Given the description of an element on the screen output the (x, y) to click on. 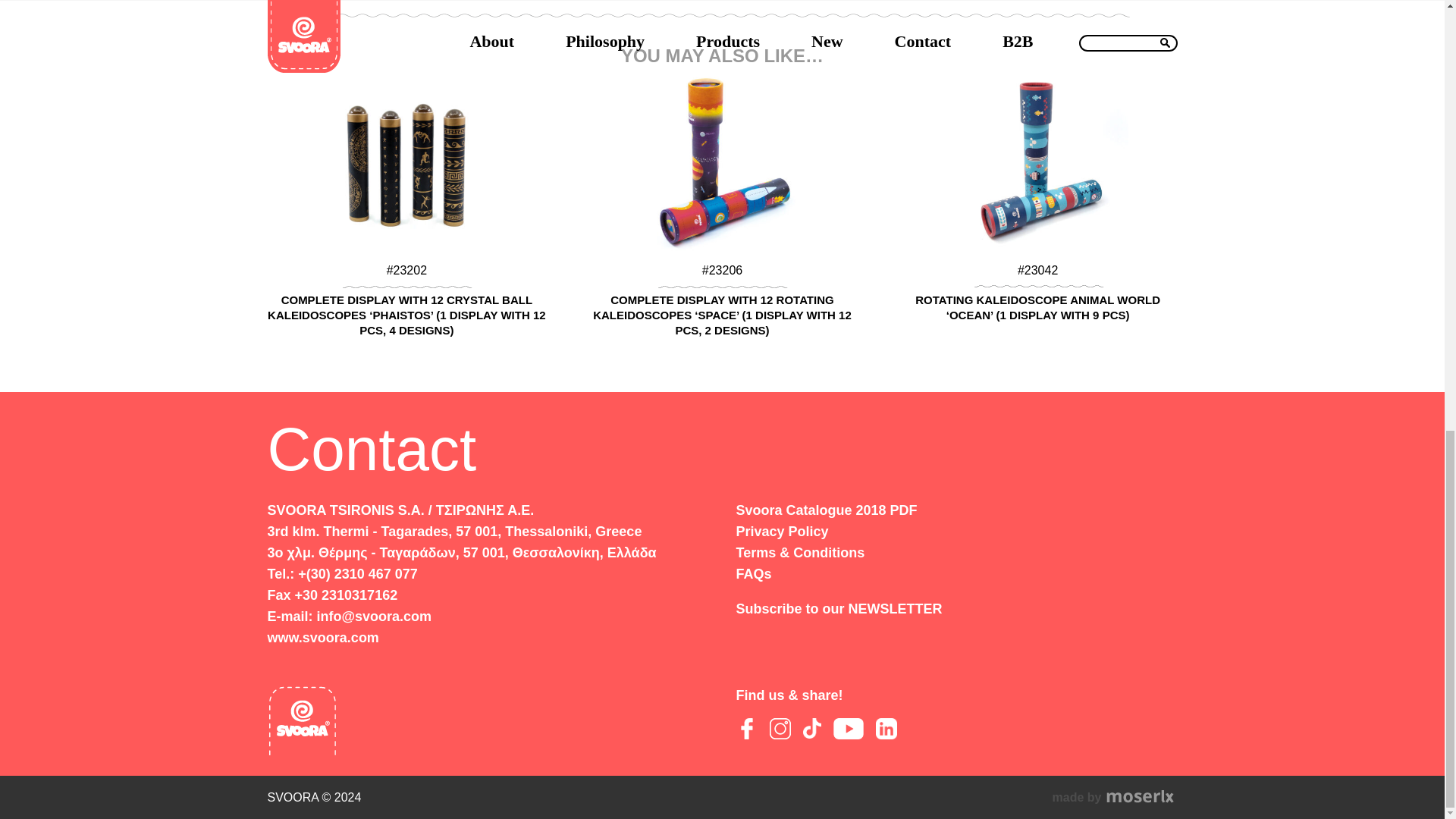
MOSERLX (1114, 797)
